Given the description of an element on the screen output the (x, y) to click on. 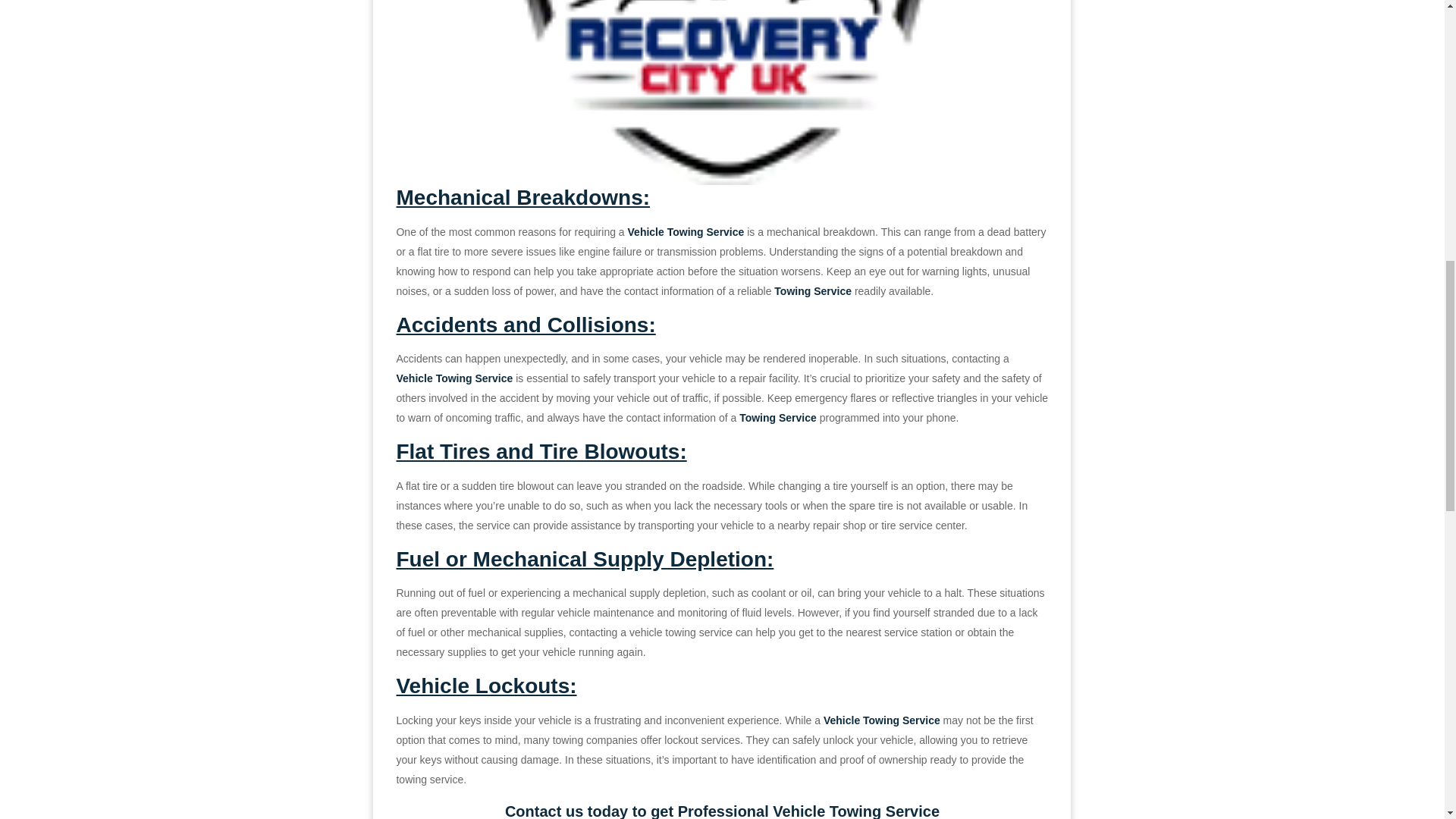
Vehicle Towing Service (454, 378)
Towing Service (777, 417)
Vehicle Towing Service (685, 232)
Towing Service (812, 291)
Vehicle Towing Service (882, 720)
Vehicle Towing Service (856, 811)
